Given the description of an element on the screen output the (x, y) to click on. 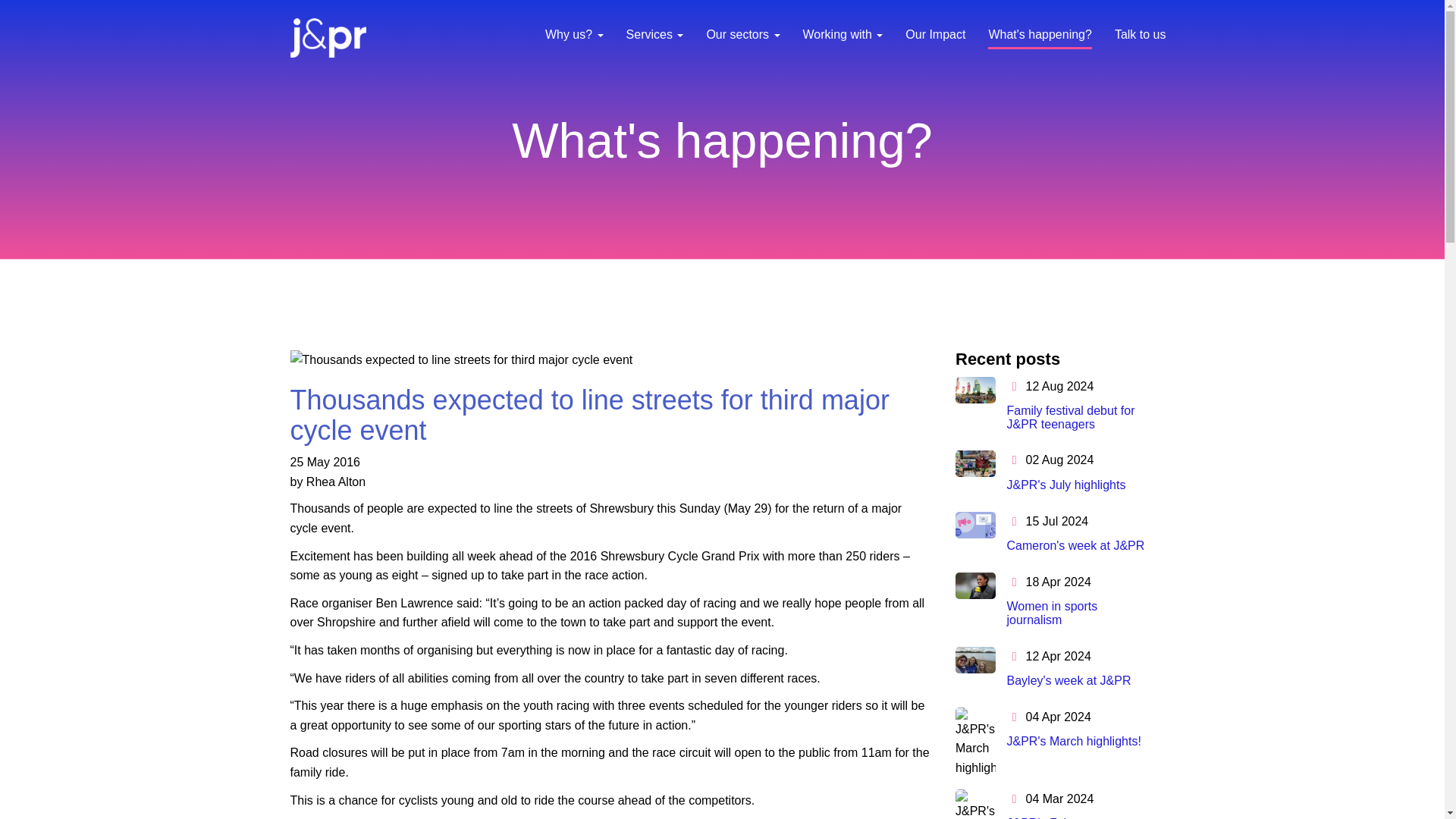
Our Impact (935, 37)
What's happening? (1039, 37)
Talk to us (1140, 37)
Why us? (574, 37)
Services (655, 37)
Working with (843, 37)
Our sectors (742, 37)
Women in sports journalism (1052, 612)
